Given the description of an element on the screen output the (x, y) to click on. 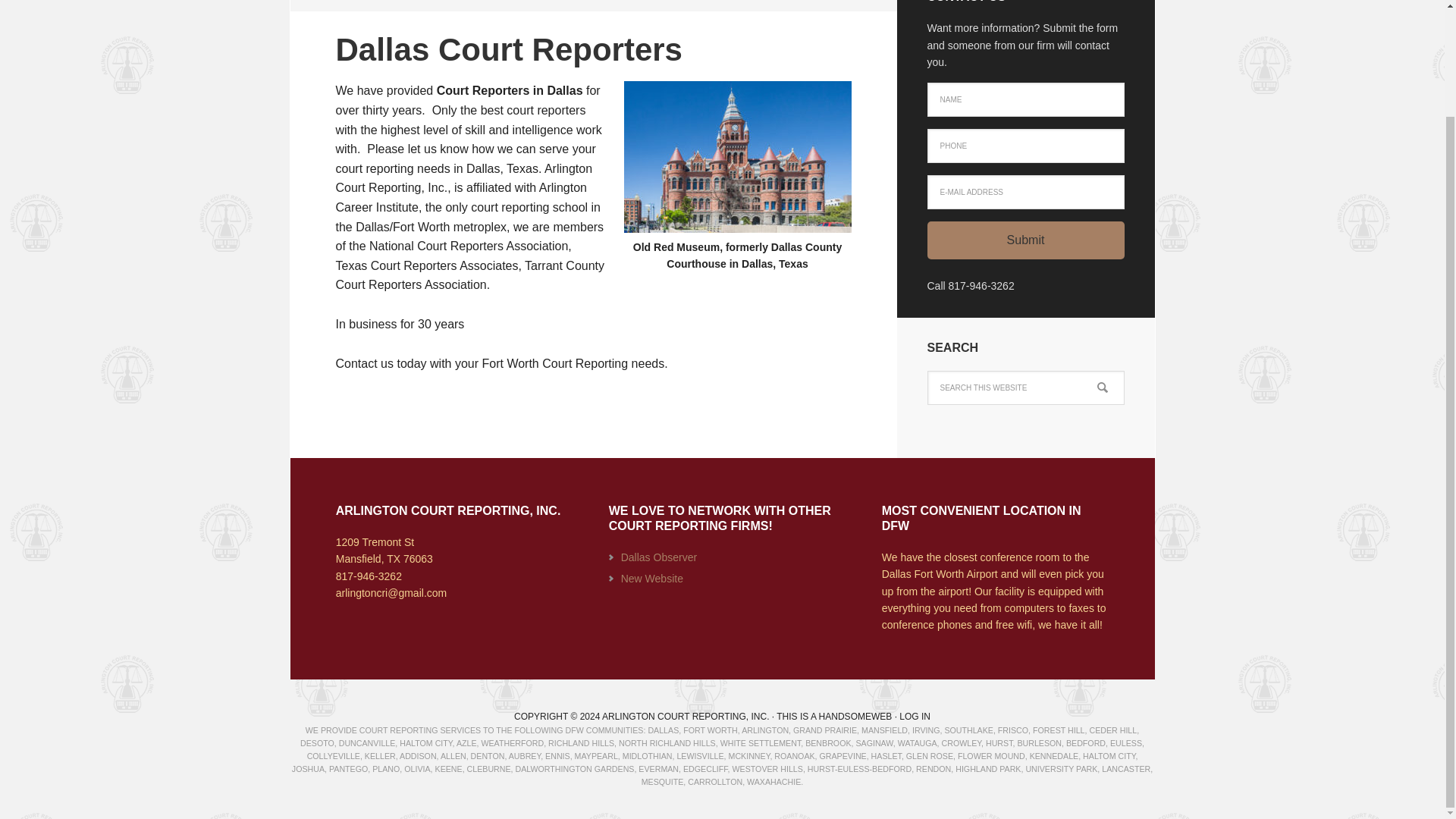
Submit (1025, 240)
THIS IS A HANDSOMEWEB (833, 716)
Submit (1025, 240)
New Website (651, 578)
LOG IN (914, 716)
817-946-3262 (368, 576)
Dallas Observer (659, 557)
